Given the description of an element on the screen output the (x, y) to click on. 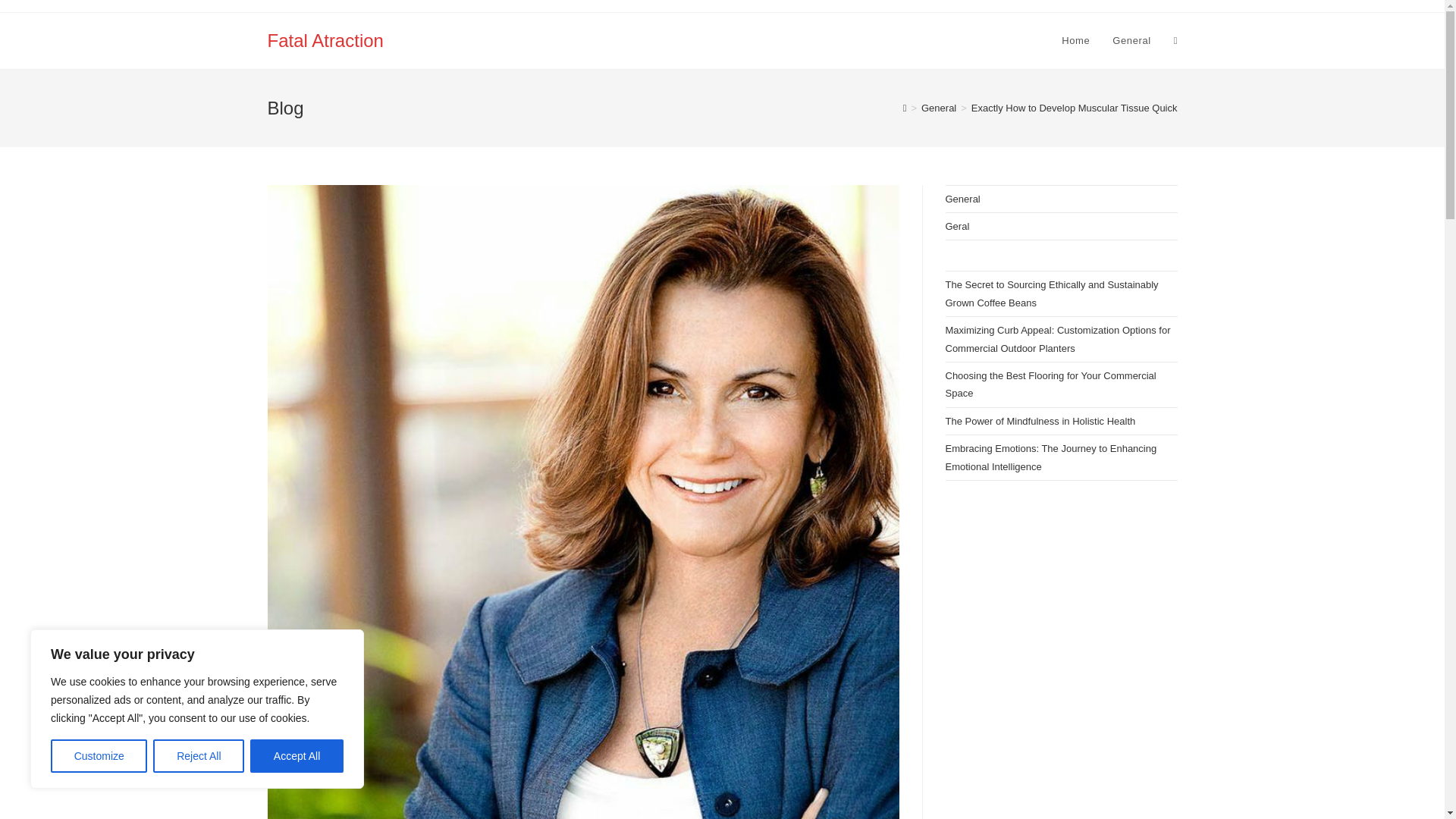
Exactly How to Develop Muscular Tissue Quick (1074, 107)
Customize (98, 756)
Fatal Atraction (324, 40)
Home (1074, 40)
General (938, 107)
Accept All (296, 756)
Reject All (198, 756)
General (1130, 40)
